Given the description of an element on the screen output the (x, y) to click on. 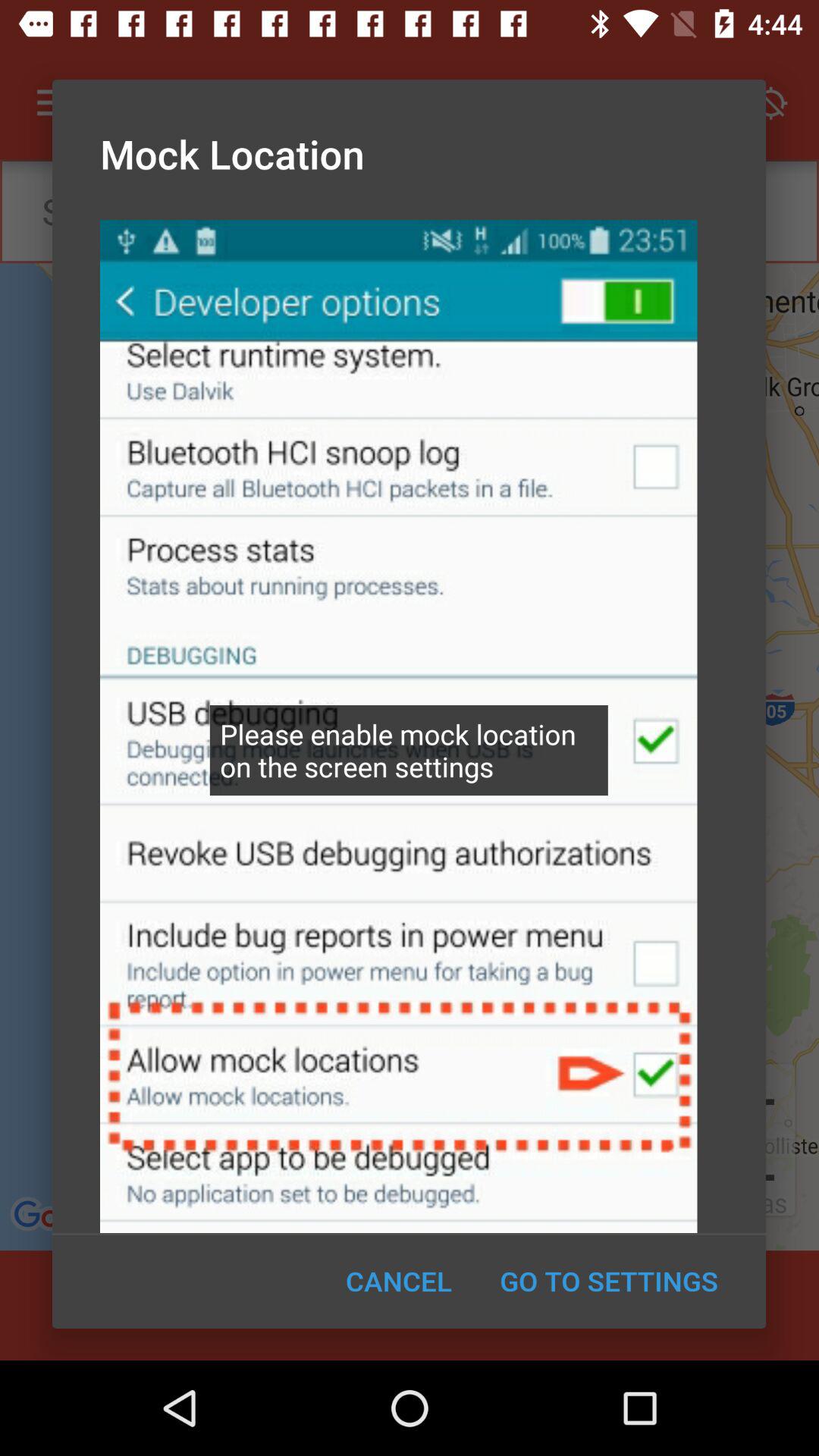
launch the item next to the cancel icon (609, 1280)
